Given the description of an element on the screen output the (x, y) to click on. 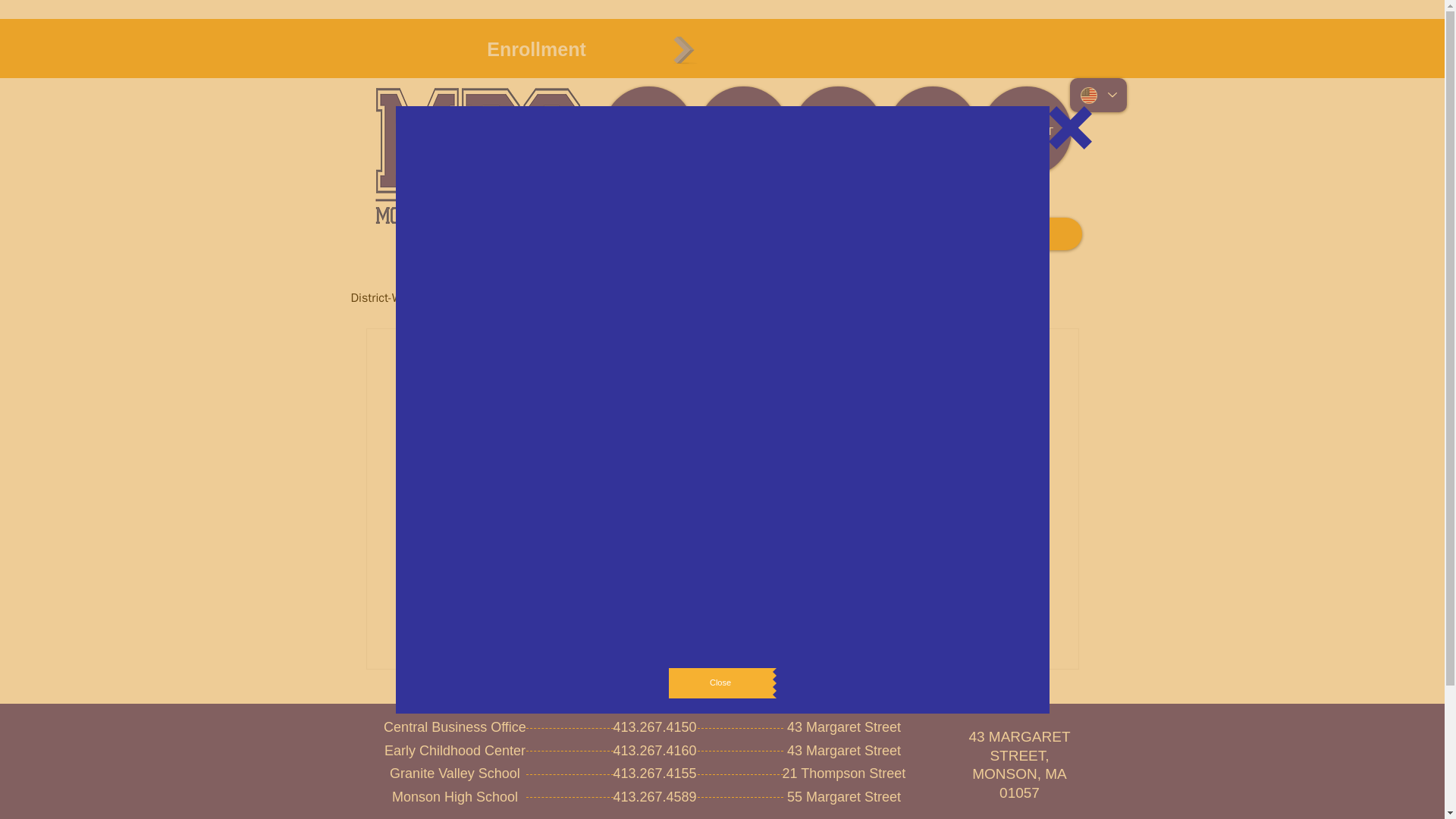
ECC Announcements (592, 297)
MHS Announcements (875, 297)
DEPARTMENTS (742, 131)
LEADERSHIP (931, 131)
GVS Announcements (733, 297)
Staff Log In (1033, 234)
RESOURCES (838, 131)
CONTACT (1025, 131)
HOME (649, 131)
District-Wide Announcements (427, 297)
Back to site (1070, 127)
Enrollment (536, 49)
